Given the description of an element on the screen output the (x, y) to click on. 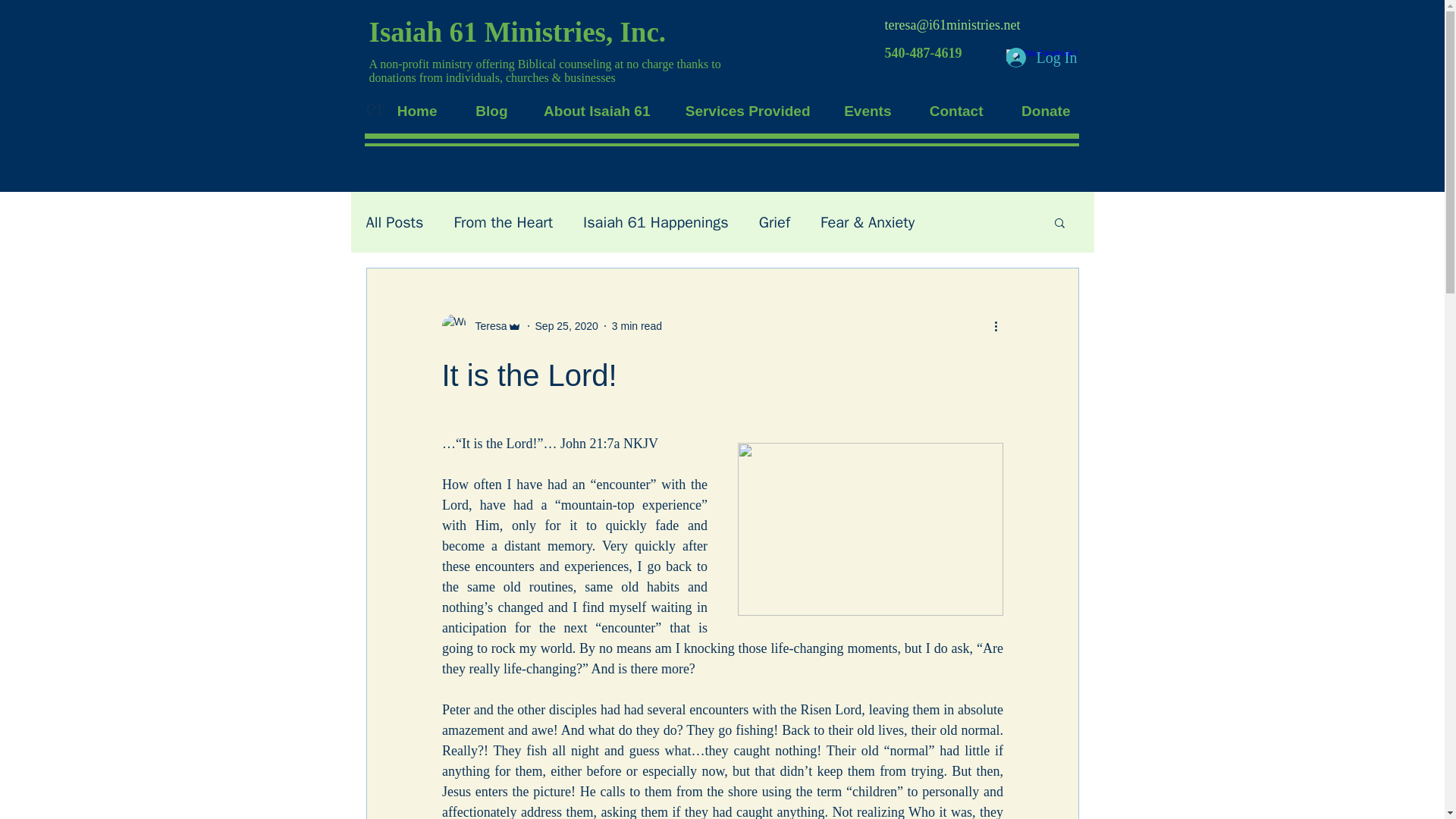
Contact (948, 110)
Isaiah 61 Happenings (656, 222)
Events (862, 110)
Log In (1040, 58)
Teresa (481, 325)
From the Heart (502, 222)
Teresa (485, 326)
Home (408, 110)
All Posts (394, 222)
Services Provided (741, 110)
Sep 25, 2020 (566, 326)
540-487-4619 (921, 52)
About Isaiah 61 (589, 110)
Donate (1037, 110)
3 min read (636, 326)
